Given the description of an element on the screen output the (x, y) to click on. 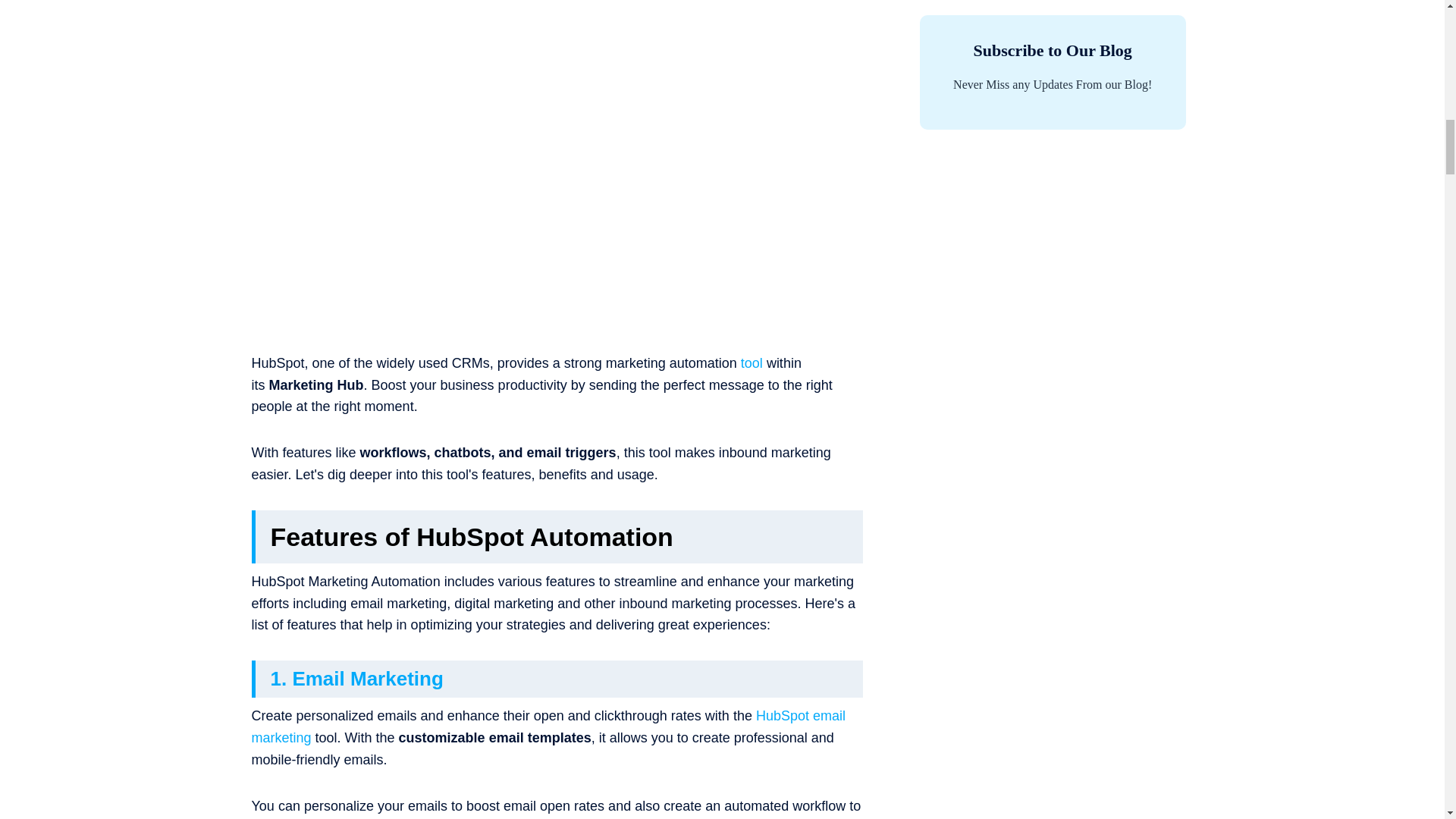
ShortlyAI (751, 363)
